Given the description of an element on the screen output the (x, y) to click on. 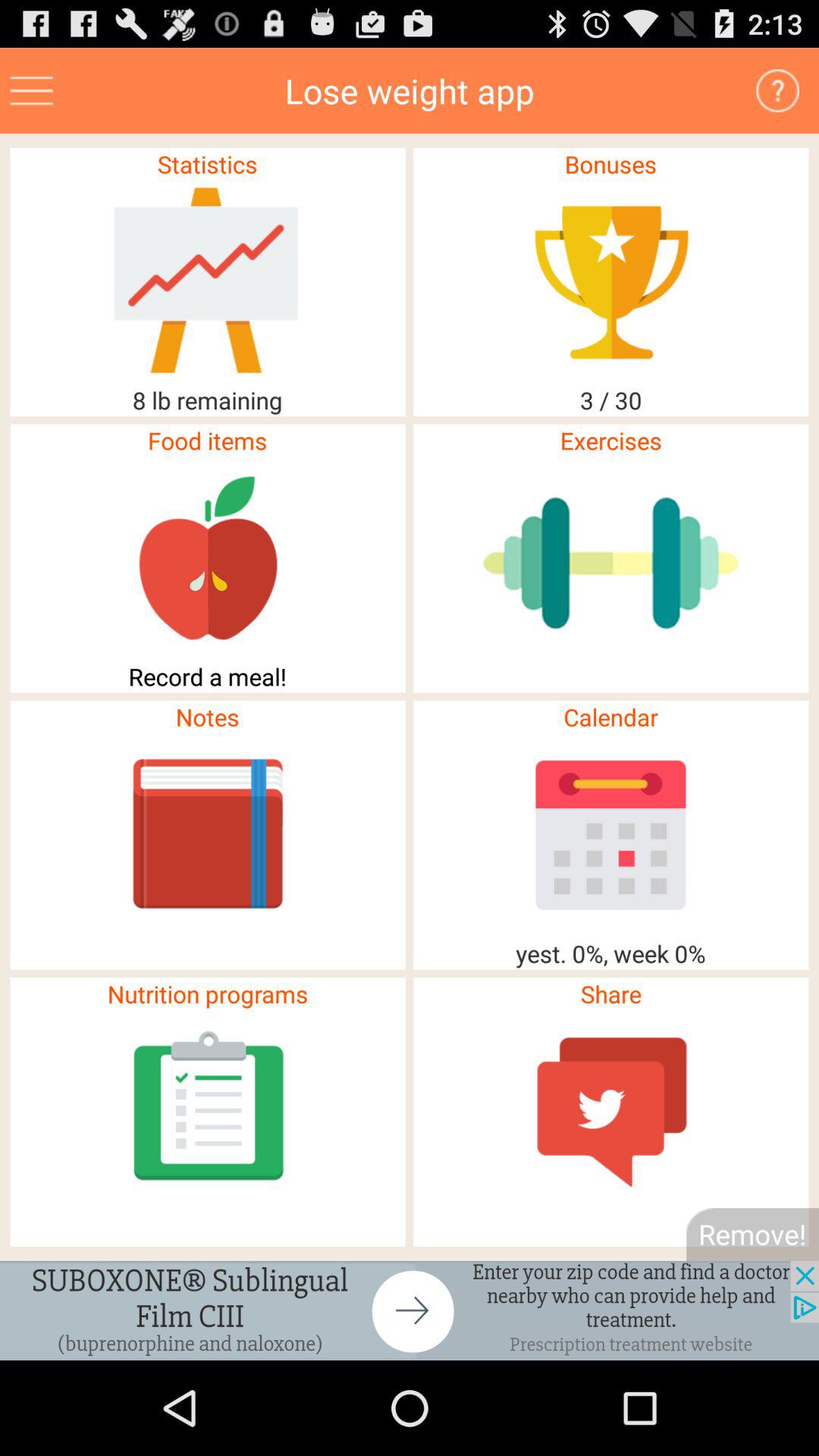
learn more option (777, 90)
